Given the description of an element on the screen output the (x, y) to click on. 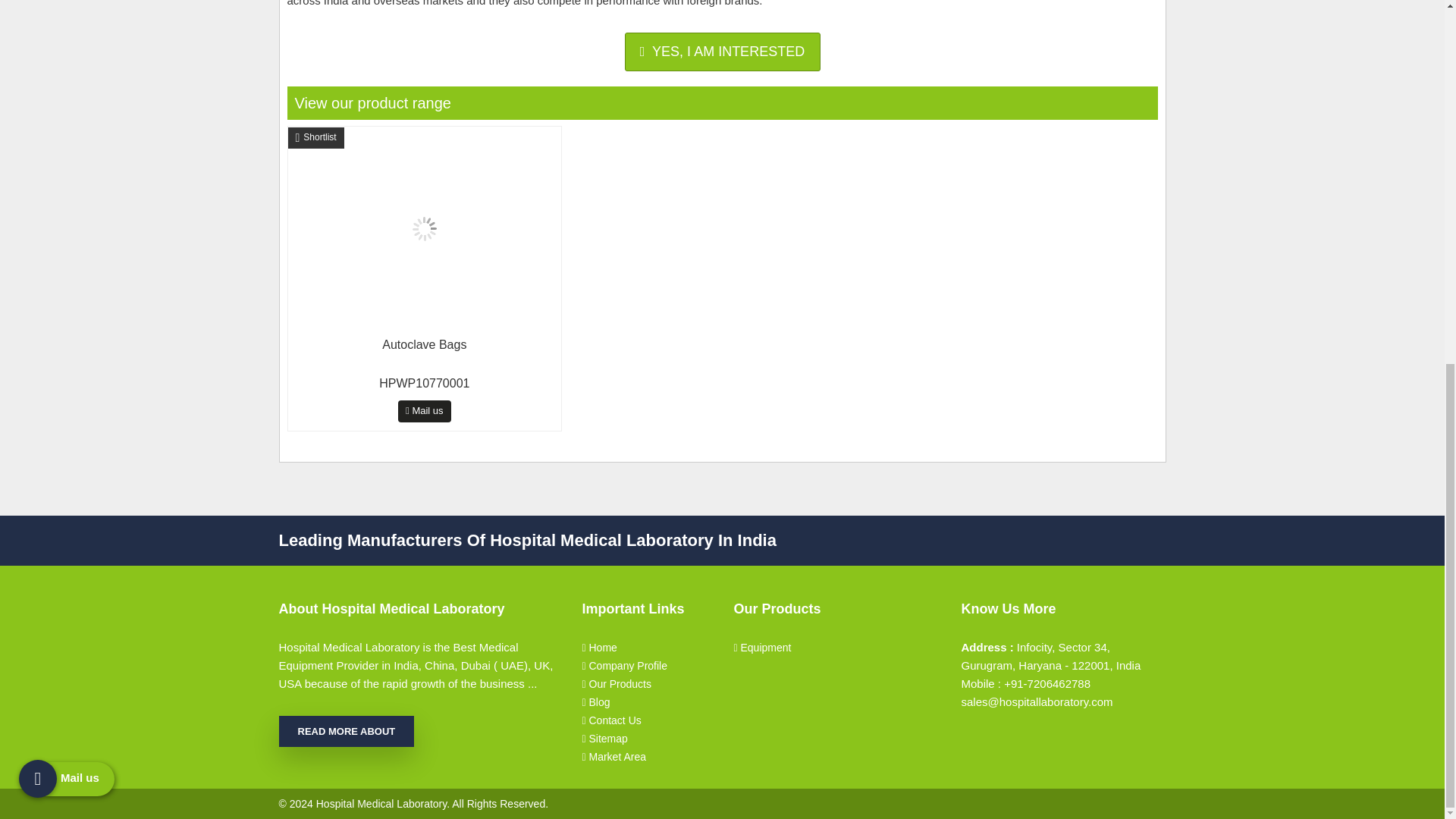
Autoclave Bags (425, 273)
Shortlist (315, 137)
Home (645, 647)
Blog (645, 701)
Company Profile (645, 665)
Sitemap (645, 738)
Our Products (645, 683)
Contact Us (645, 720)
Mail us (722, 52)
Mail us (66, 126)
Contact Us (645, 720)
READ MORE ABOUT (346, 730)
Sitemap (645, 738)
Market Area (645, 756)
Our Products (645, 683)
